Given the description of an element on the screen output the (x, y) to click on. 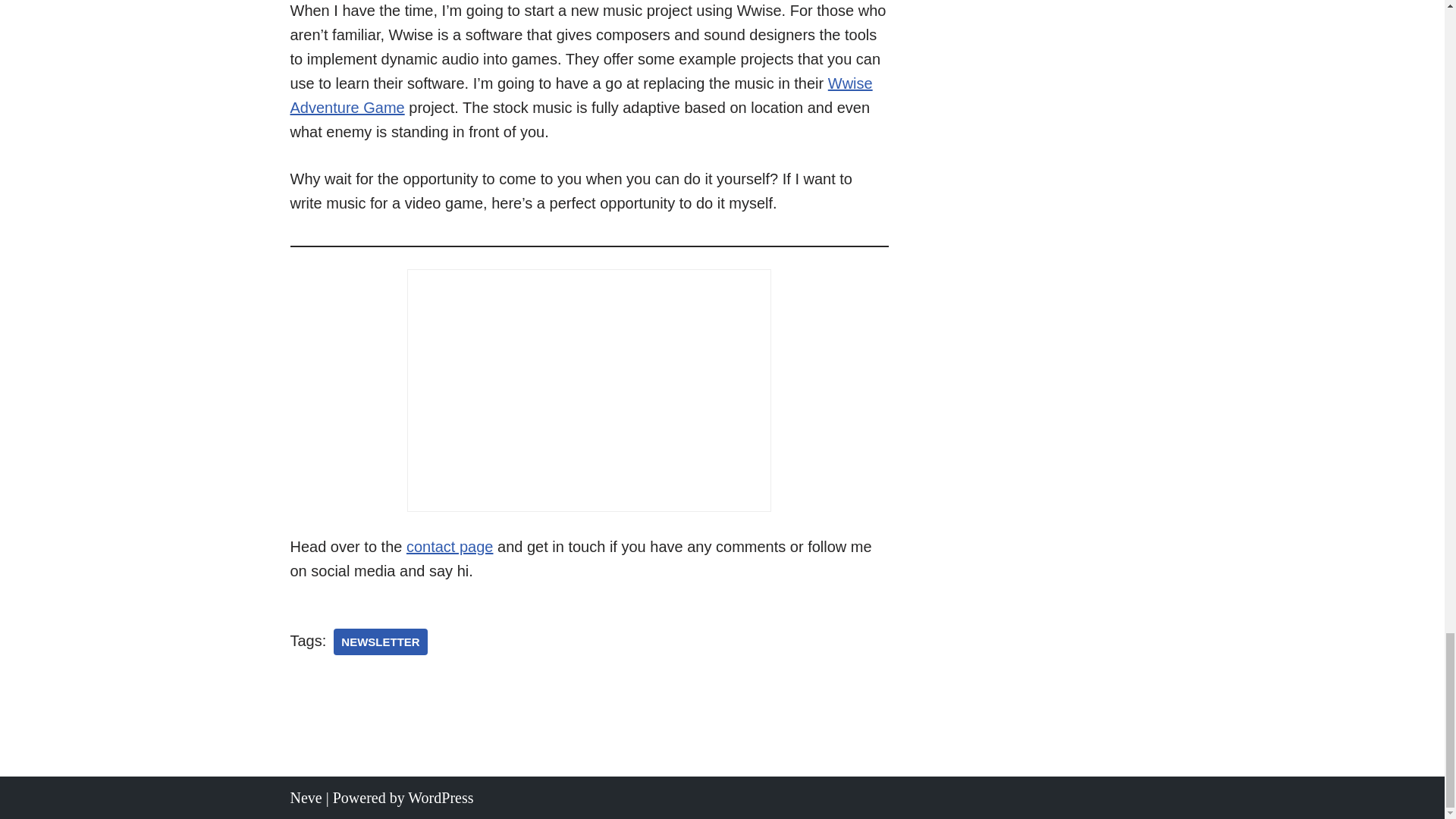
Neve (305, 797)
contact page (449, 546)
Wwise Adventure Game (580, 95)
WordPress (440, 797)
newsletter (379, 641)
NEWSLETTER (379, 641)
